Given the description of an element on the screen output the (x, y) to click on. 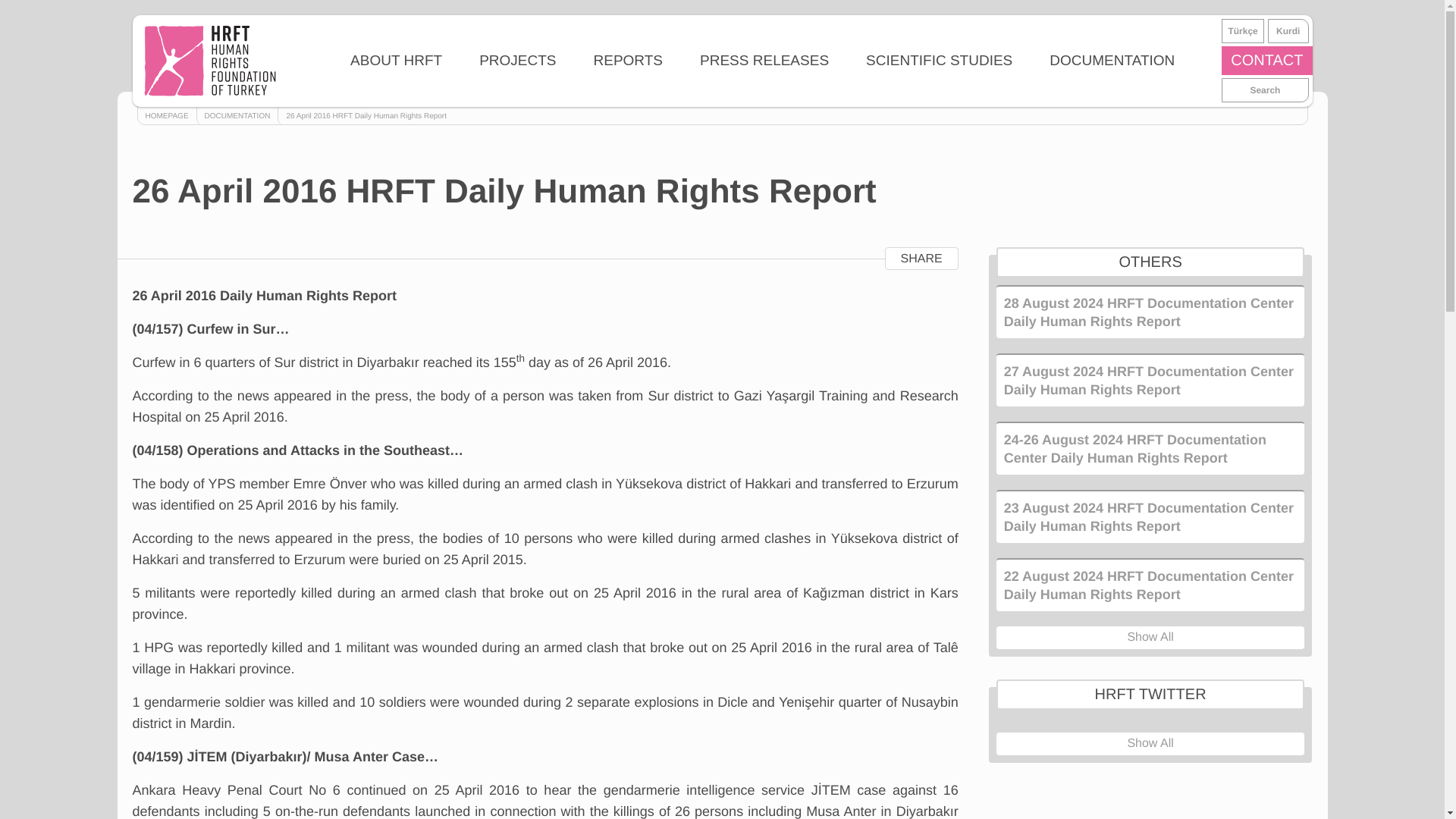
PROJECTS (517, 60)
DOCUMENTATION (1111, 60)
SCIENTIFIC STUDIES (938, 60)
DOCUMENTATION (237, 116)
ABOUT HRFT (396, 60)
PRESS RELEASES (764, 60)
Search (1265, 89)
ABOUT HRFT (396, 60)
DOCUMENTATION (1111, 60)
PROJECTS (517, 60)
